Given the description of an element on the screen output the (x, y) to click on. 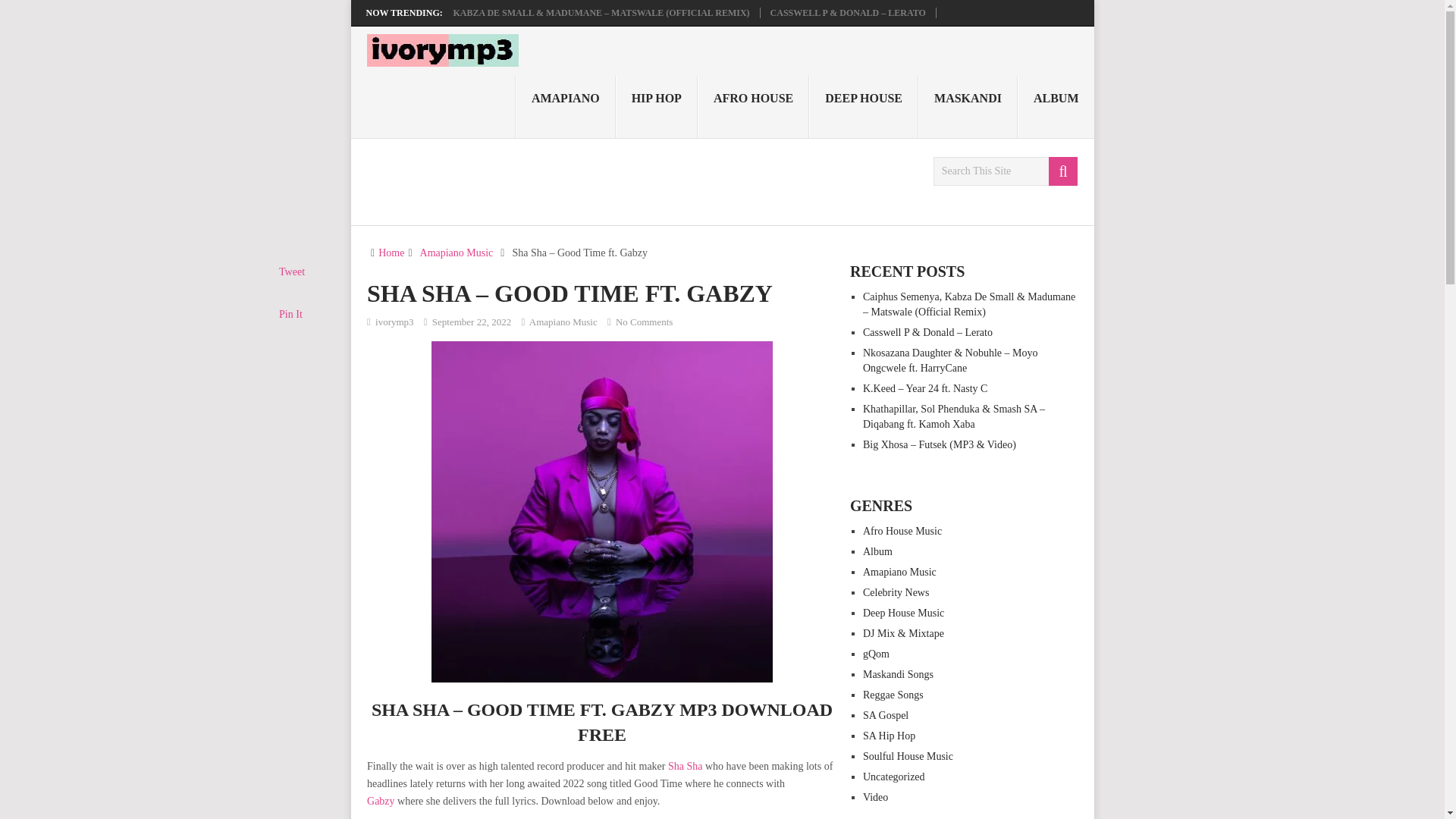
Amapiano Music (456, 252)
Amapiano Music (562, 321)
Sha Sha (685, 766)
MASKANDI (967, 107)
AFRO HOUSE (753, 107)
Posts by ivorymp3 (394, 321)
HIP HOP (656, 107)
AMAPIANO (565, 107)
View all posts in Amapiano Music (562, 321)
Home (391, 252)
ALBUM (1055, 107)
Pin It (290, 314)
ivorymp3 (394, 321)
DEEP HOUSE (863, 107)
Gabzy (380, 800)
